Given the description of an element on the screen output the (x, y) to click on. 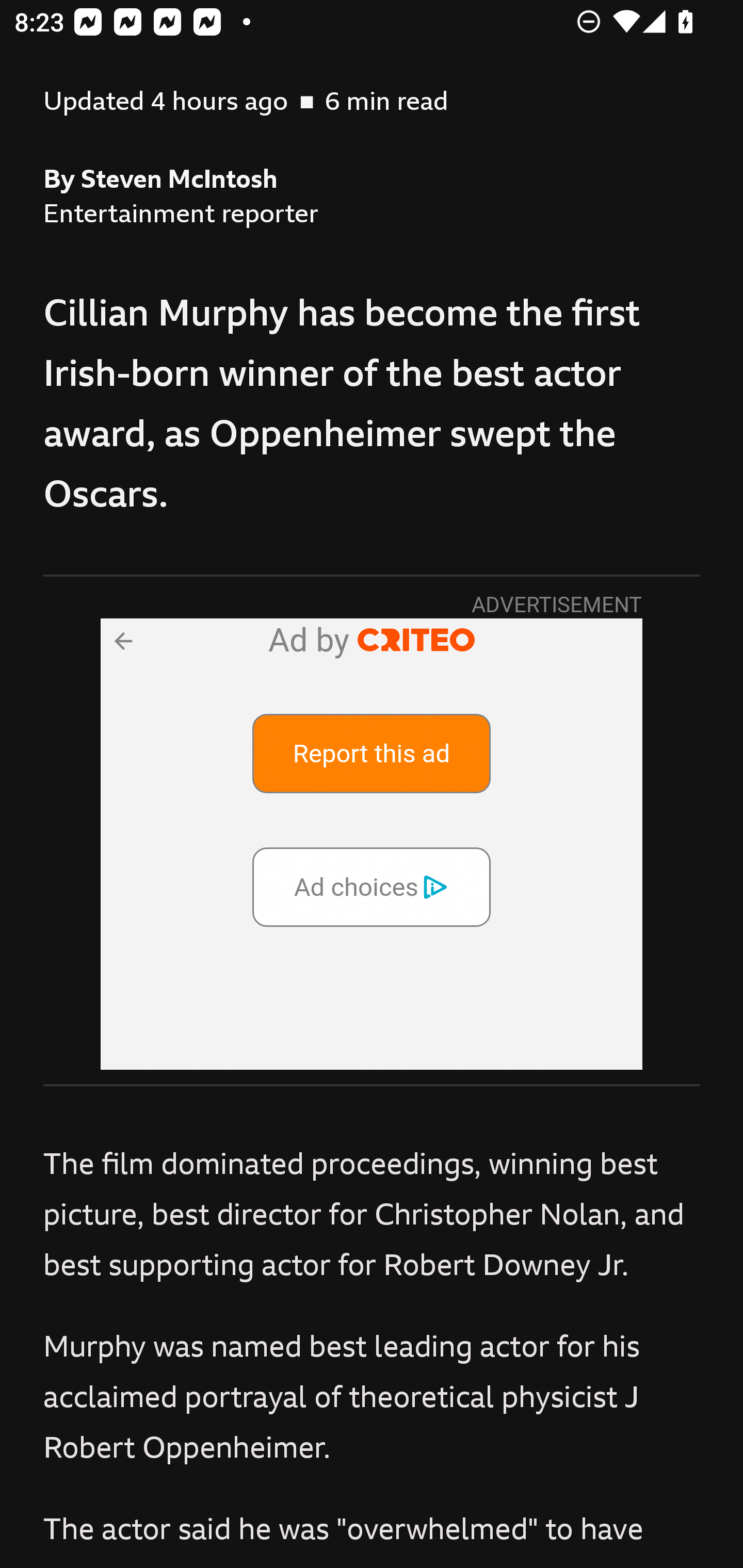
back_button2 (121, 639)
Report this ad (371, 752)
Ad choices Ad choices privacy (371, 885)
